Given the description of an element on the screen output the (x, y) to click on. 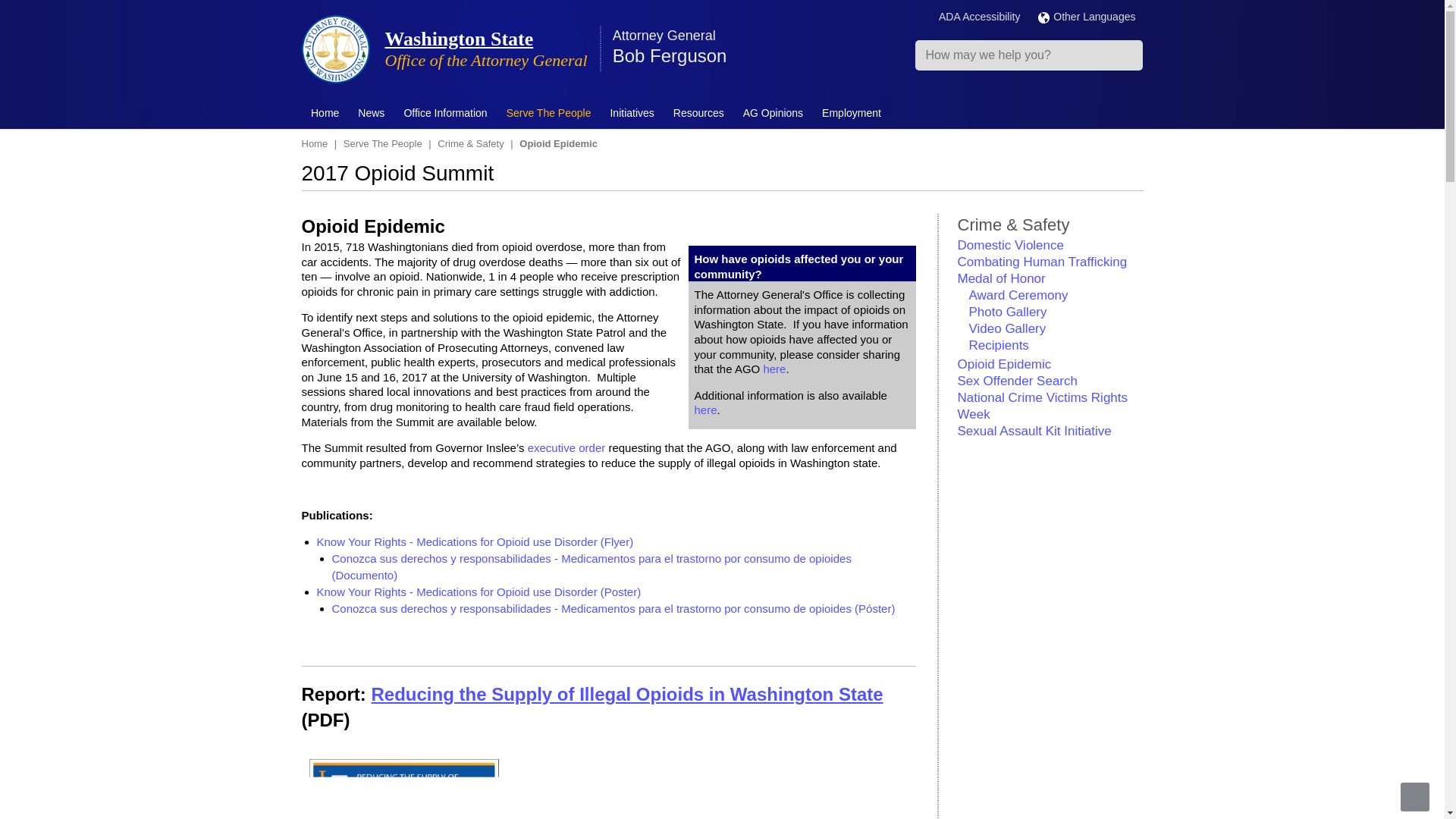
Home (325, 113)
Enter the terms you wish to search for. (1028, 55)
Home (325, 113)
ADA Accessibility (979, 16)
News (371, 113)
Home (335, 49)
Other Languages (1086, 16)
ADA Accessibility (979, 16)
Office Information (445, 113)
Home (459, 38)
Washington State (459, 38)
News (371, 113)
Languages (1086, 16)
